Given the description of an element on the screen output the (x, y) to click on. 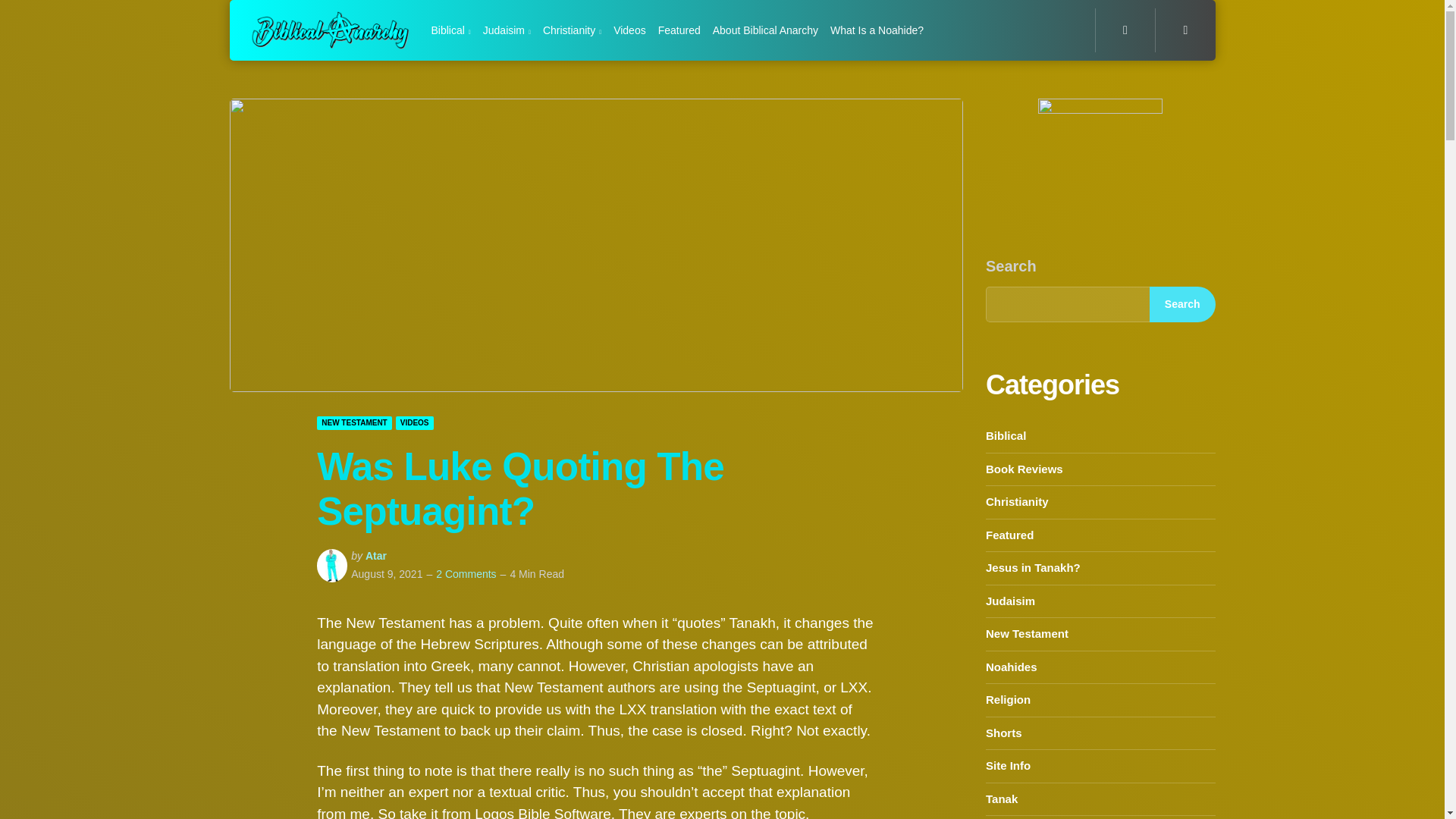
Atar (376, 555)
Videos (629, 30)
NEW TESTAMENT (354, 422)
Christianity (572, 30)
Biblical (450, 30)
What Is a Noahide? (876, 30)
About Biblical Anarchy (765, 30)
2 Comments (465, 573)
Judaisim (507, 30)
Featured (679, 30)
